Given the description of an element on the screen output the (x, y) to click on. 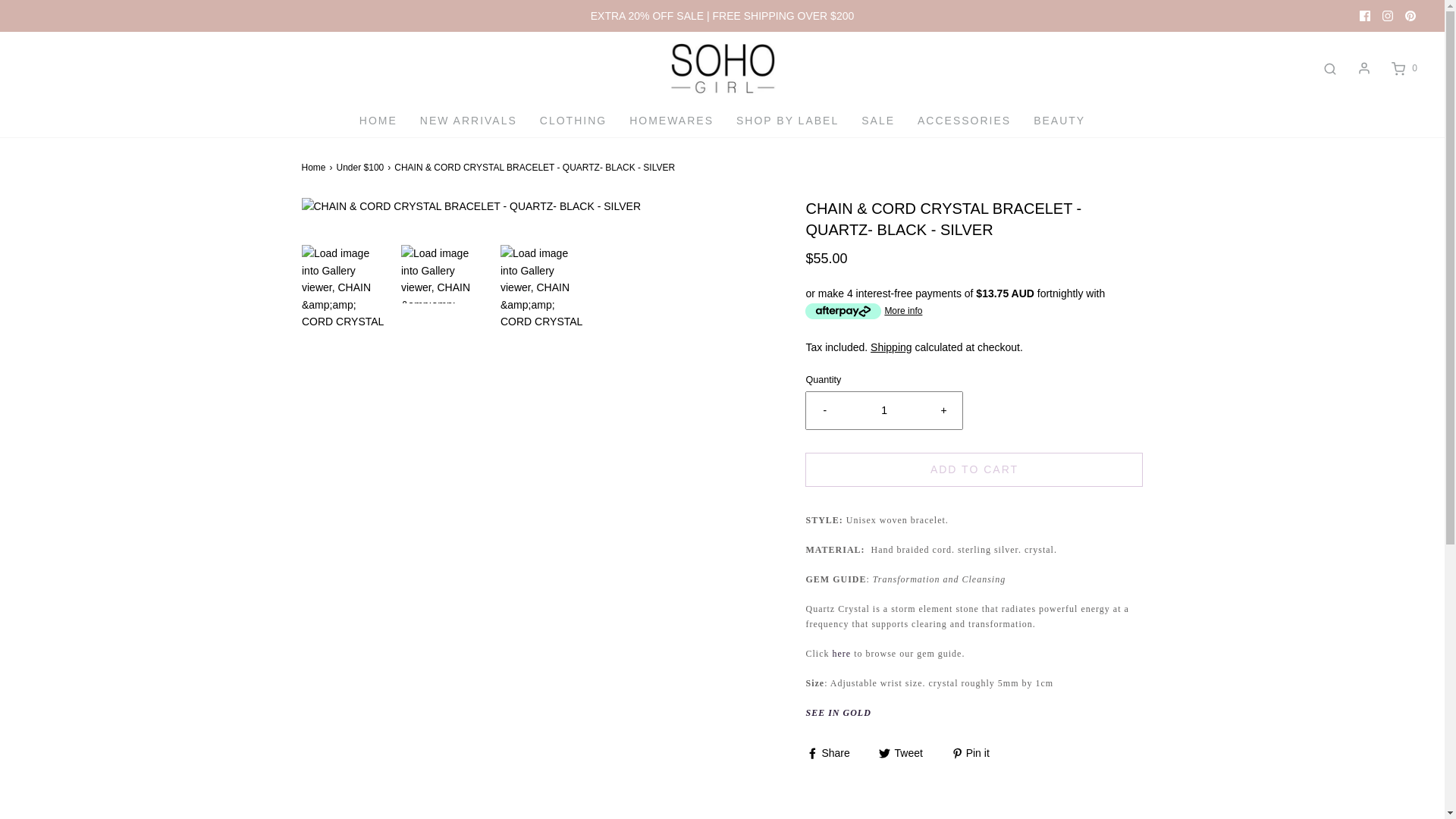
- (824, 410)
HOME (378, 120)
Cart (1403, 68)
More info (863, 310)
Instagram icon (1387, 15)
Pinterest icon (1410, 15)
0 (1403, 68)
NEW ARRIVALS (468, 120)
SHOP BY LABEL (787, 120)
SALE (878, 120)
